Given the description of an element on the screen output the (x, y) to click on. 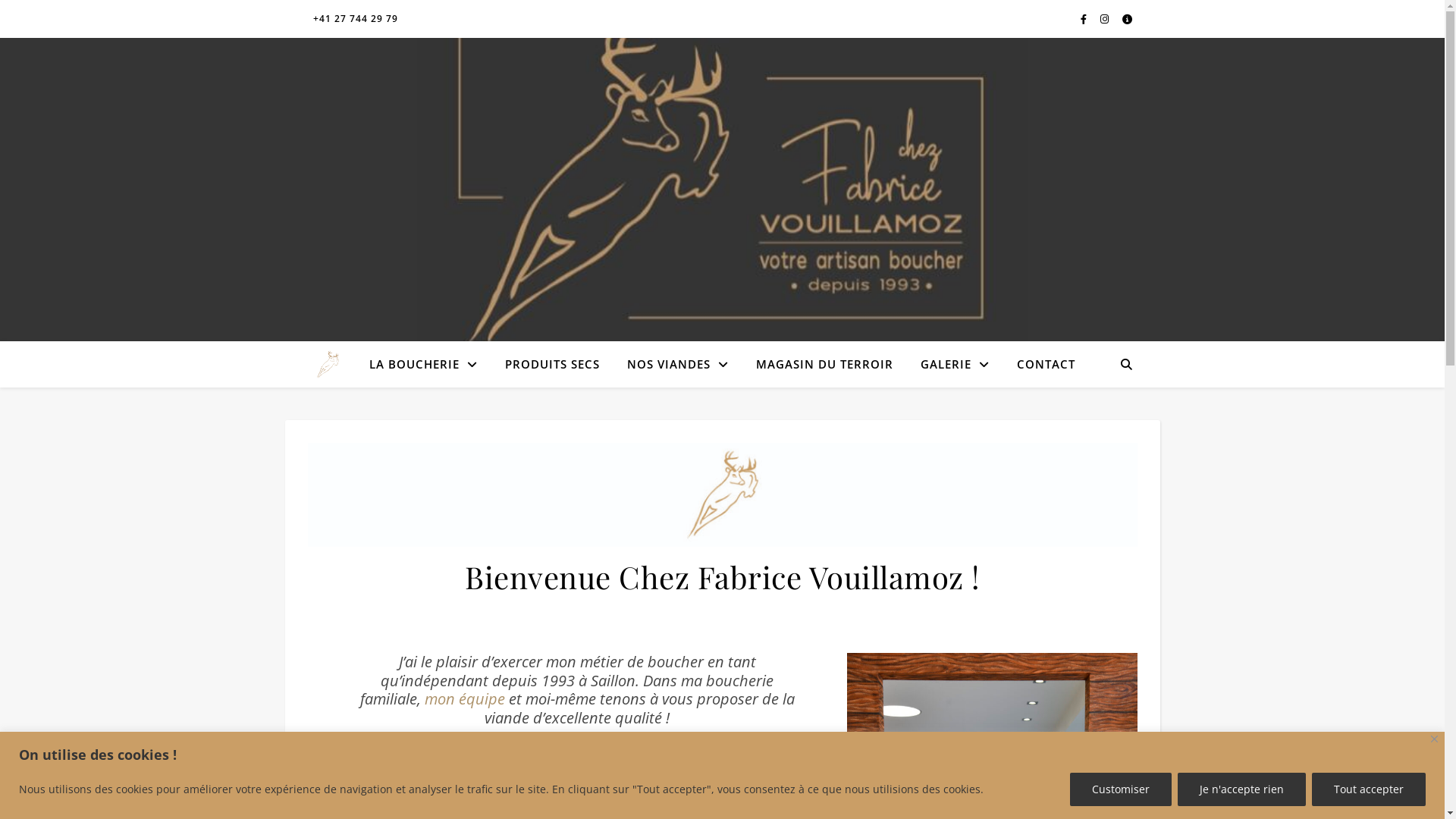
+41 27 744 29 79 Element type: text (354, 18)
GALERIE Element type: text (954, 364)
PRODUITS SECS Element type: text (551, 363)
CONTACT Element type: text (1039, 363)
MAGASIN DU TERROIR Element type: text (824, 363)
NOS VIANDES Element type: text (677, 364)
Tout accepter Element type: text (1368, 788)
Je n'accepte rien Element type: text (1241, 788)
Customiser Element type: text (1120, 788)
Boucherie Vouillamoz Chez Fabrice Element type: hover (327, 363)
LA BOUCHERIE Element type: text (429, 364)
